Given the description of an element on the screen output the (x, y) to click on. 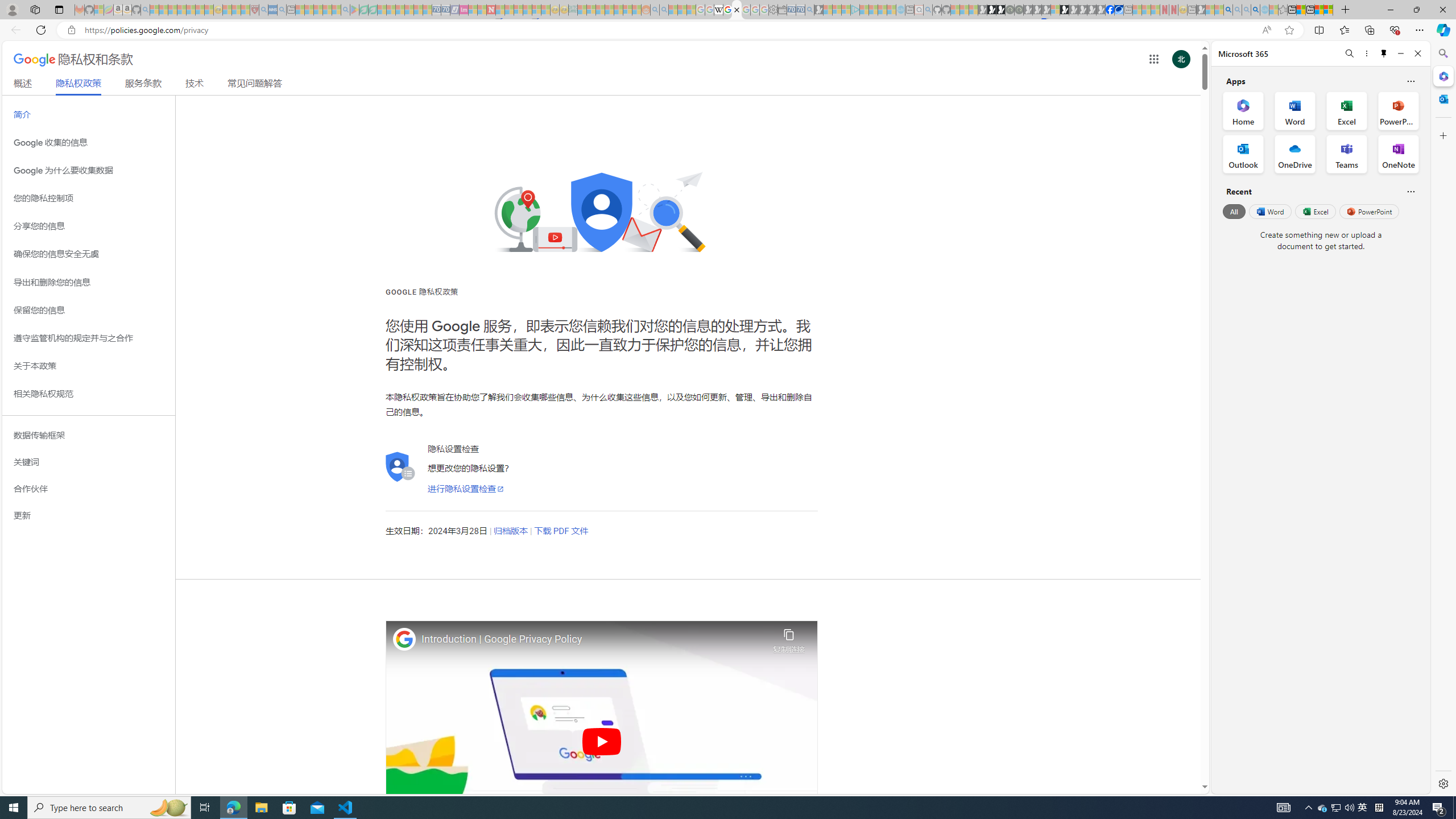
Introduction | Google Privacy Policy (593, 639)
Is this helpful? (1410, 191)
PowerPoint Office App (1398, 110)
